Given the description of an element on the screen output the (x, y) to click on. 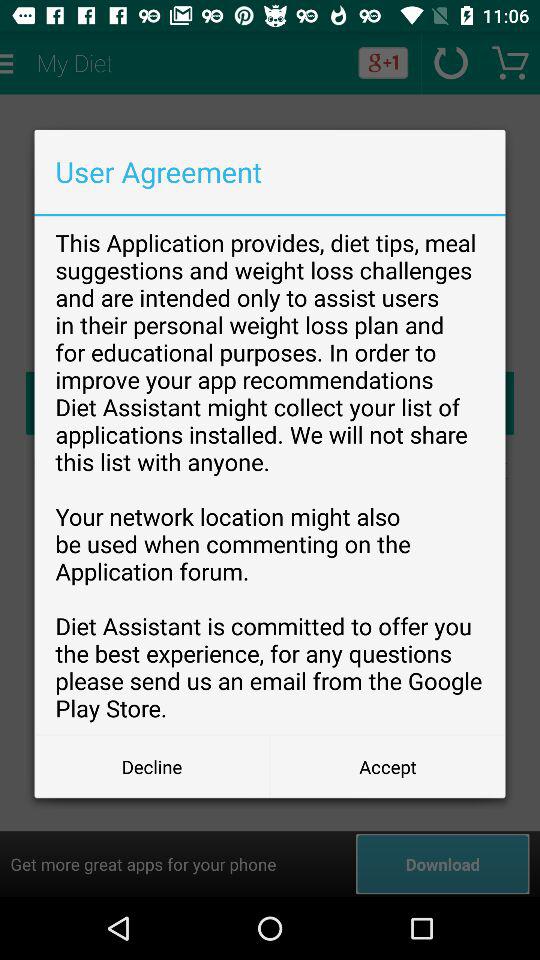
jump until decline (151, 766)
